Given the description of an element on the screen output the (x, y) to click on. 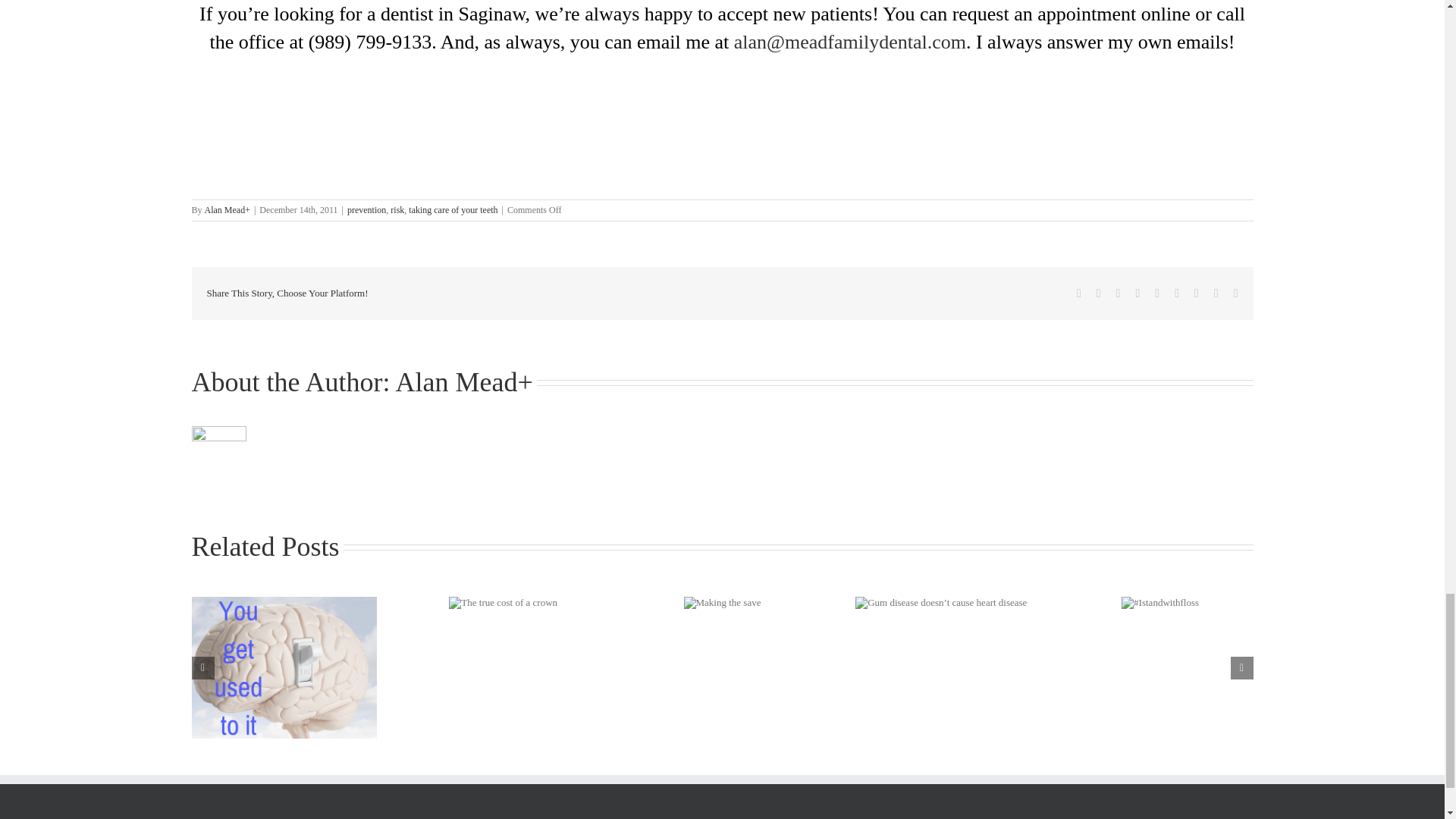
Email (1236, 293)
LinkedIn (1137, 293)
Vk (1216, 293)
Posts by Alan Mead (225, 209)
Pinterest (1195, 293)
Facebook (1079, 293)
Alan Mead (457, 381)
LinkedIn (1137, 293)
Twitter (1098, 293)
Tumblr (1176, 293)
WhatsApp (1156, 293)
Email (1236, 293)
Vk (1216, 293)
Twitter (1098, 293)
WhatsApp (1156, 293)
